Given the description of an element on the screen output the (x, y) to click on. 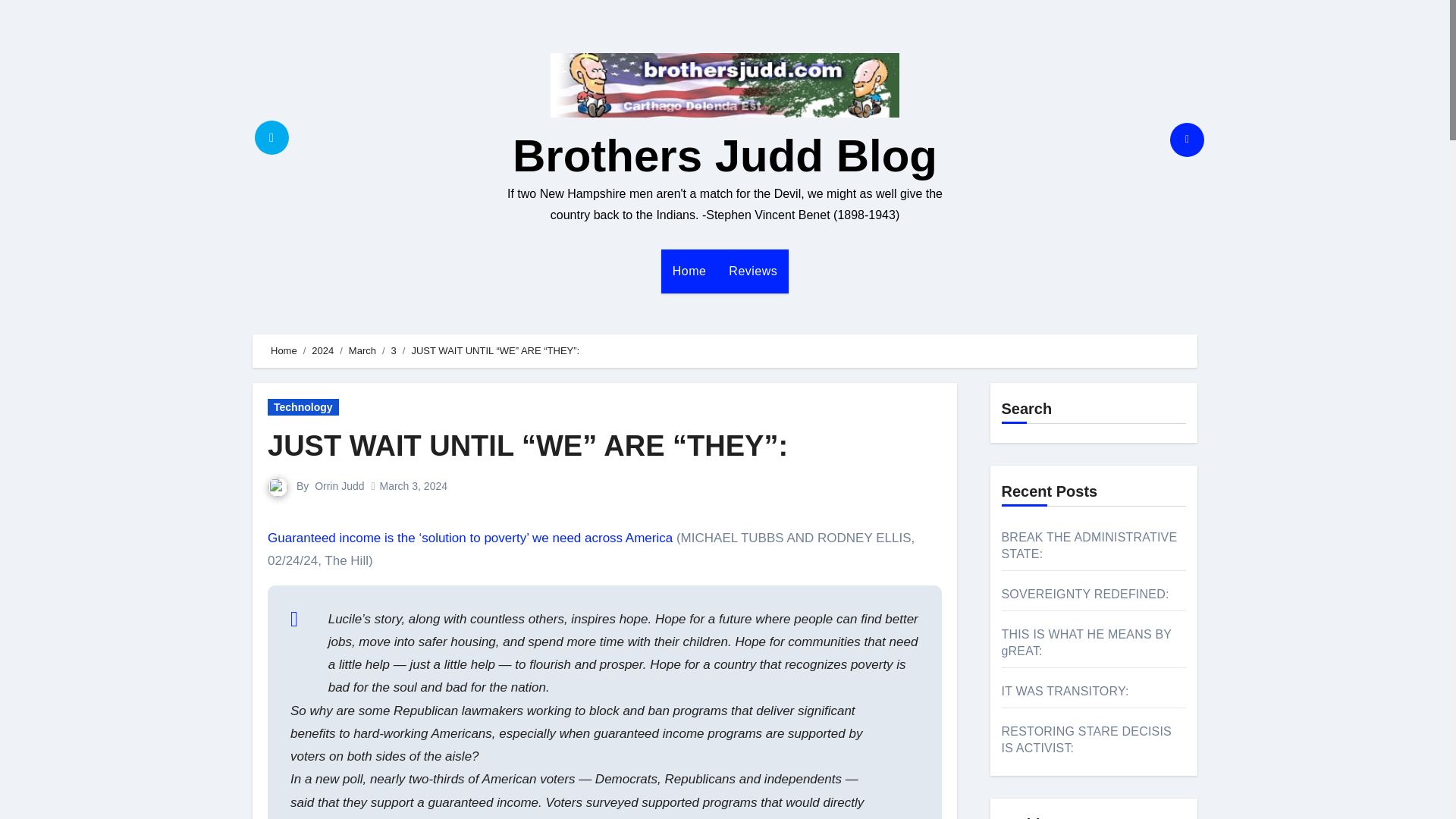
Technology (303, 406)
2024 (322, 350)
March (362, 350)
Reviews (753, 271)
Home (283, 350)
Brothers Judd Blog (724, 155)
Home (689, 271)
Home (689, 271)
March 3, 2024 (412, 485)
Orrin Judd (339, 485)
Reviews (753, 271)
